Given the description of an element on the screen output the (x, y) to click on. 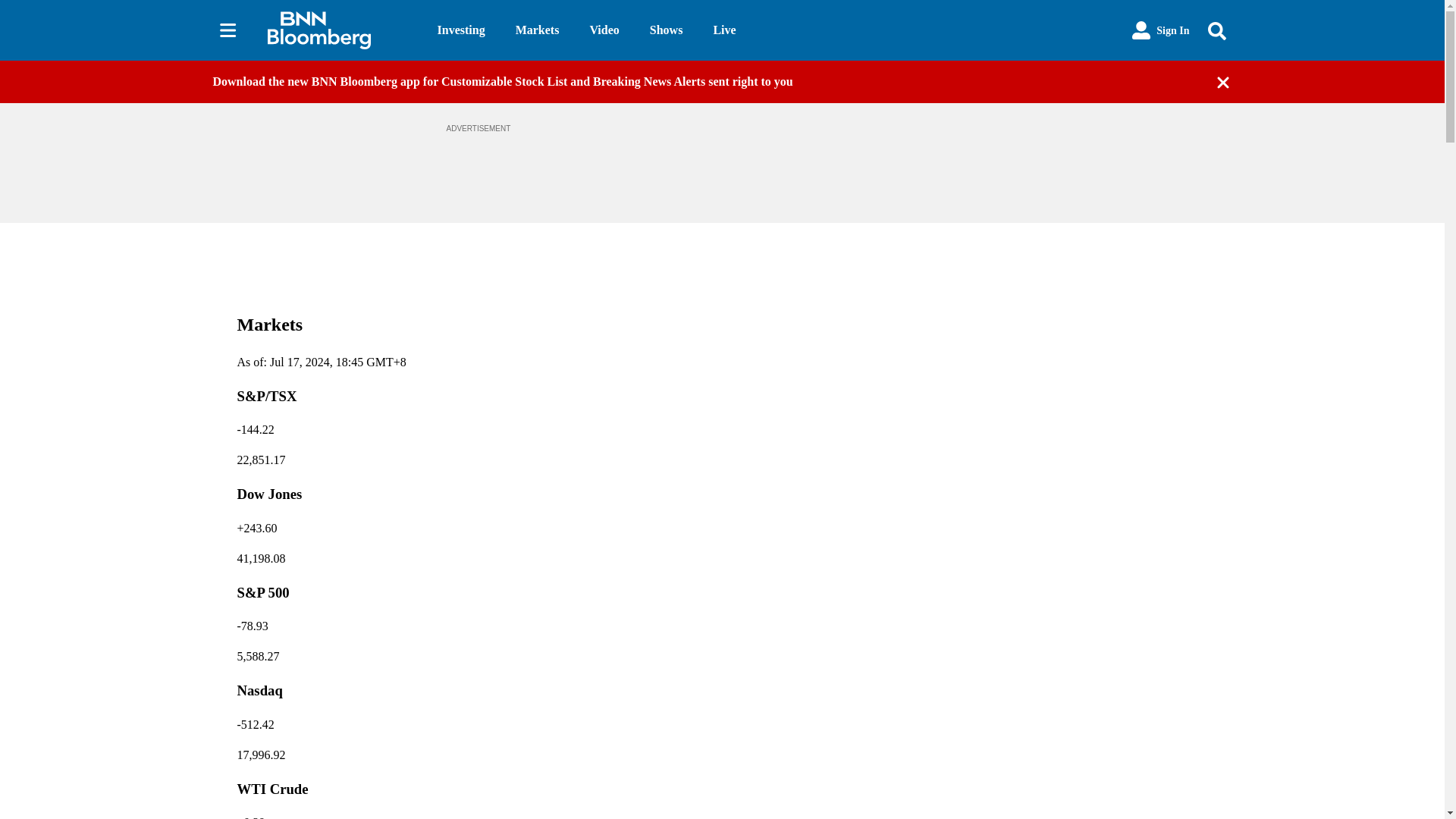
BNN Bloomberg (339, 30)
Shows (665, 30)
Sections (227, 30)
Video (603, 30)
Markets (537, 30)
Investing (460, 30)
Live (724, 30)
Sign In (1160, 30)
